Given the description of an element on the screen output the (x, y) to click on. 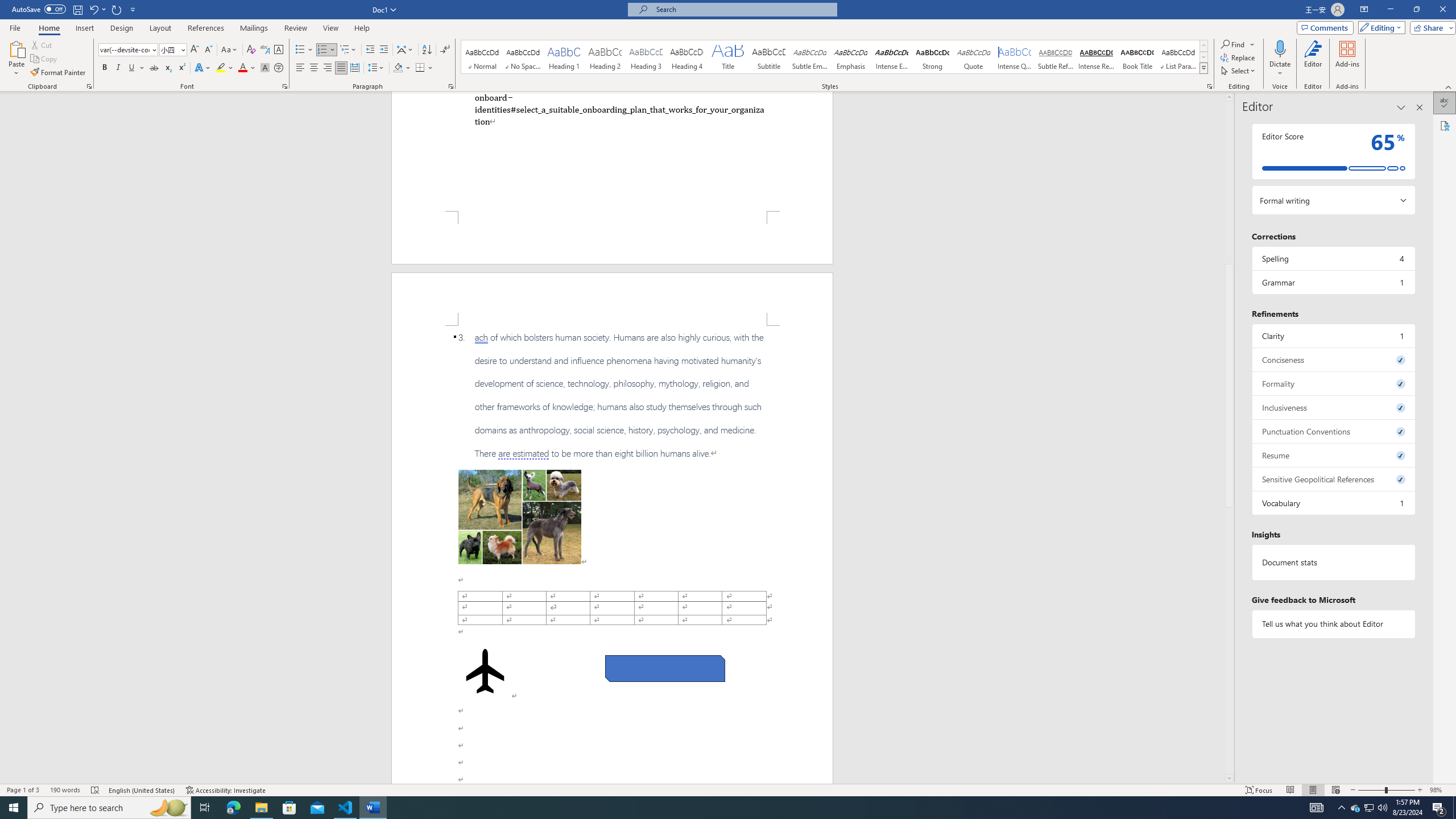
Quick Access Toolbar (74, 9)
Open (182, 49)
Center (313, 67)
Italic (118, 67)
Close pane (1419, 107)
2. (619, 108)
Borders (424, 67)
Read Mode (1290, 790)
Microsoft search (742, 9)
Cut (42, 44)
Zoom In (1420, 790)
Numbering (326, 49)
Heading 3 (646, 56)
